Given the description of an element on the screen output the (x, y) to click on. 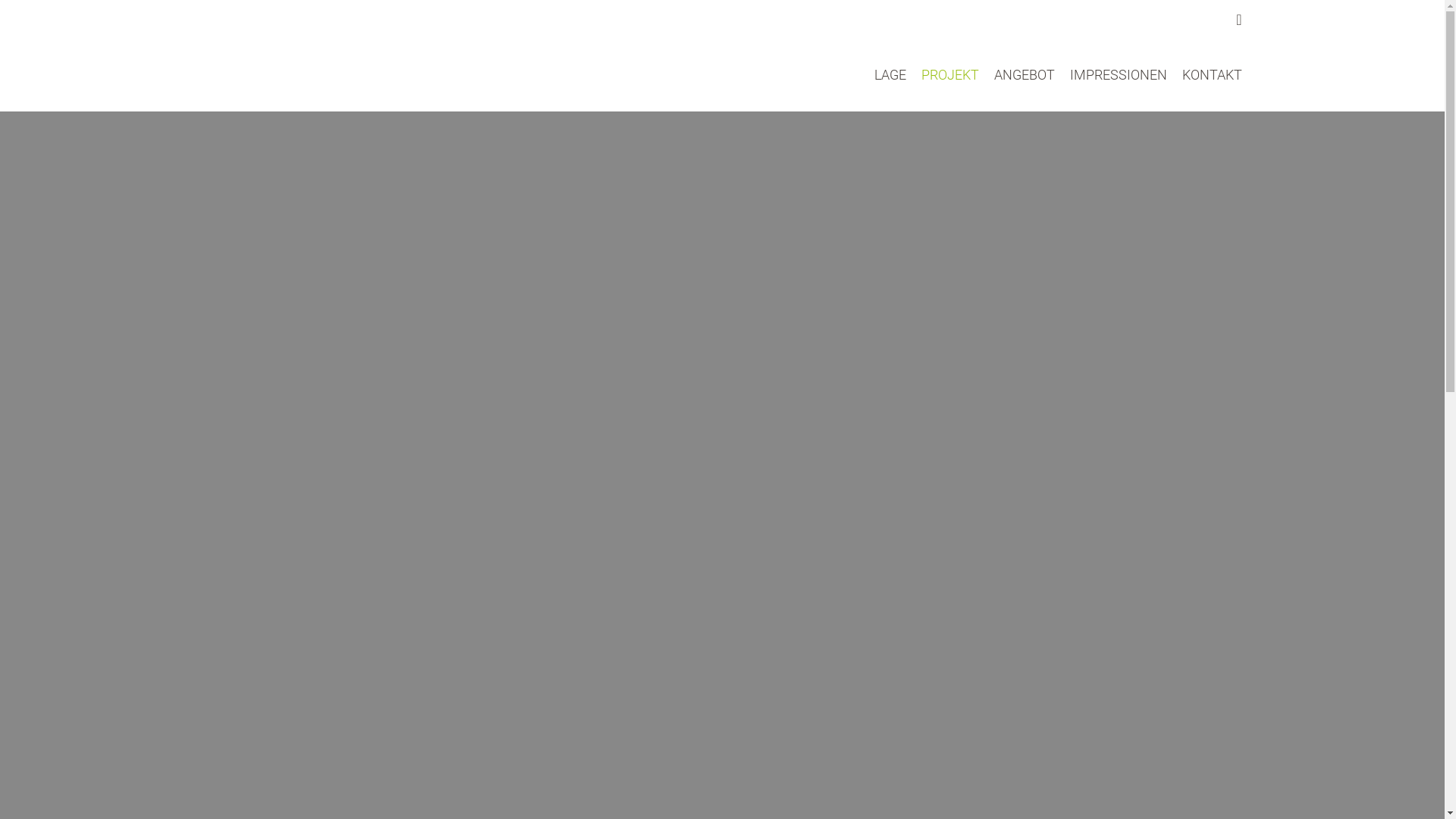
IMPRESSIONEN Element type: text (1117, 74)
ANGEBOT Element type: text (1023, 74)
LAGE Element type: text (889, 74)
  Element type: text (307, 63)
KONTAKT Element type: text (1211, 74)
PROJEKT Element type: text (949, 74)
